Given the description of an element on the screen output the (x, y) to click on. 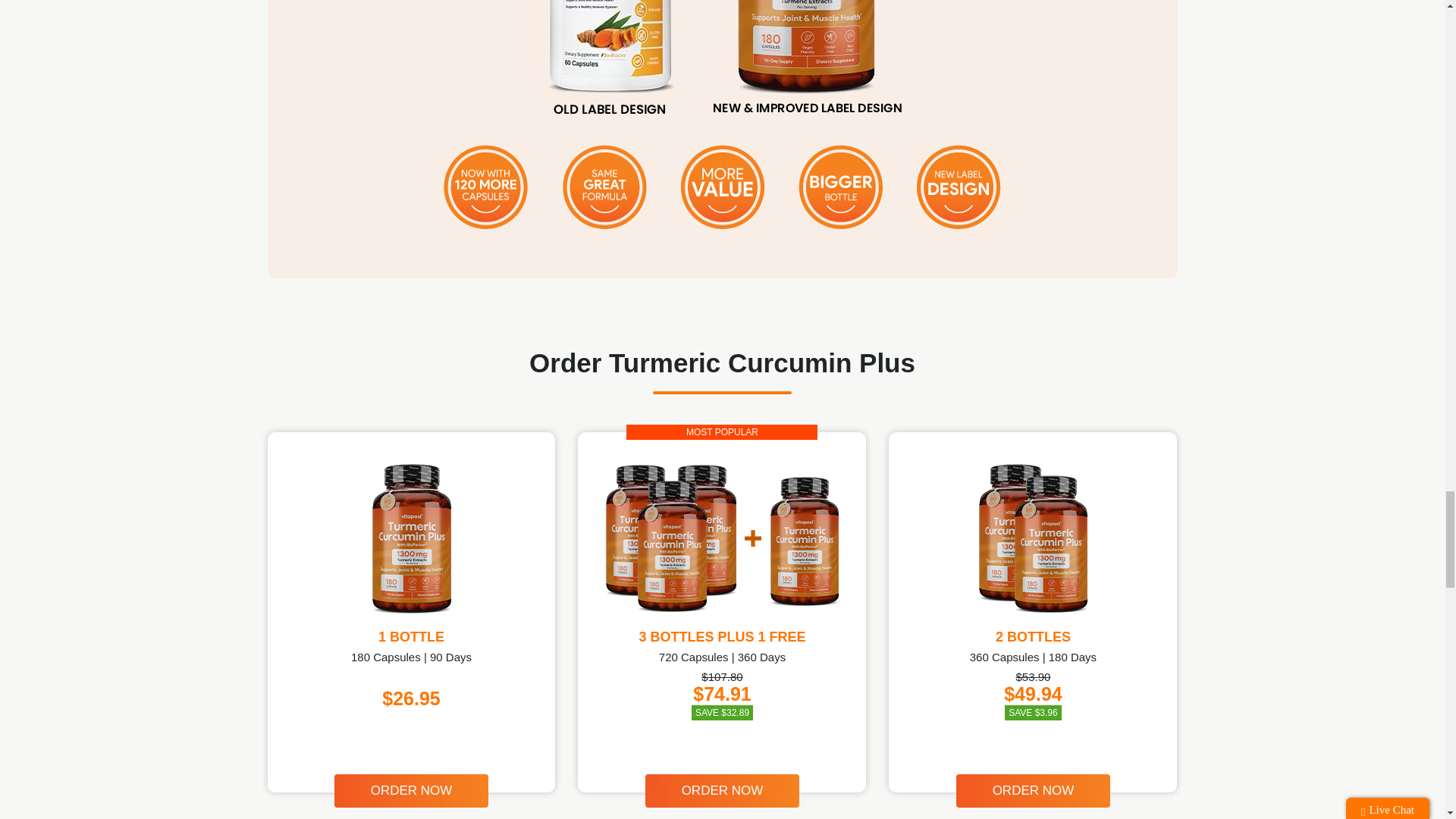
ORDER NOW (722, 790)
3 Bottles Plus 1 Free (721, 538)
ORDER NOW (1033, 790)
ORDER NOW (411, 790)
